Given the description of an element on the screen output the (x, y) to click on. 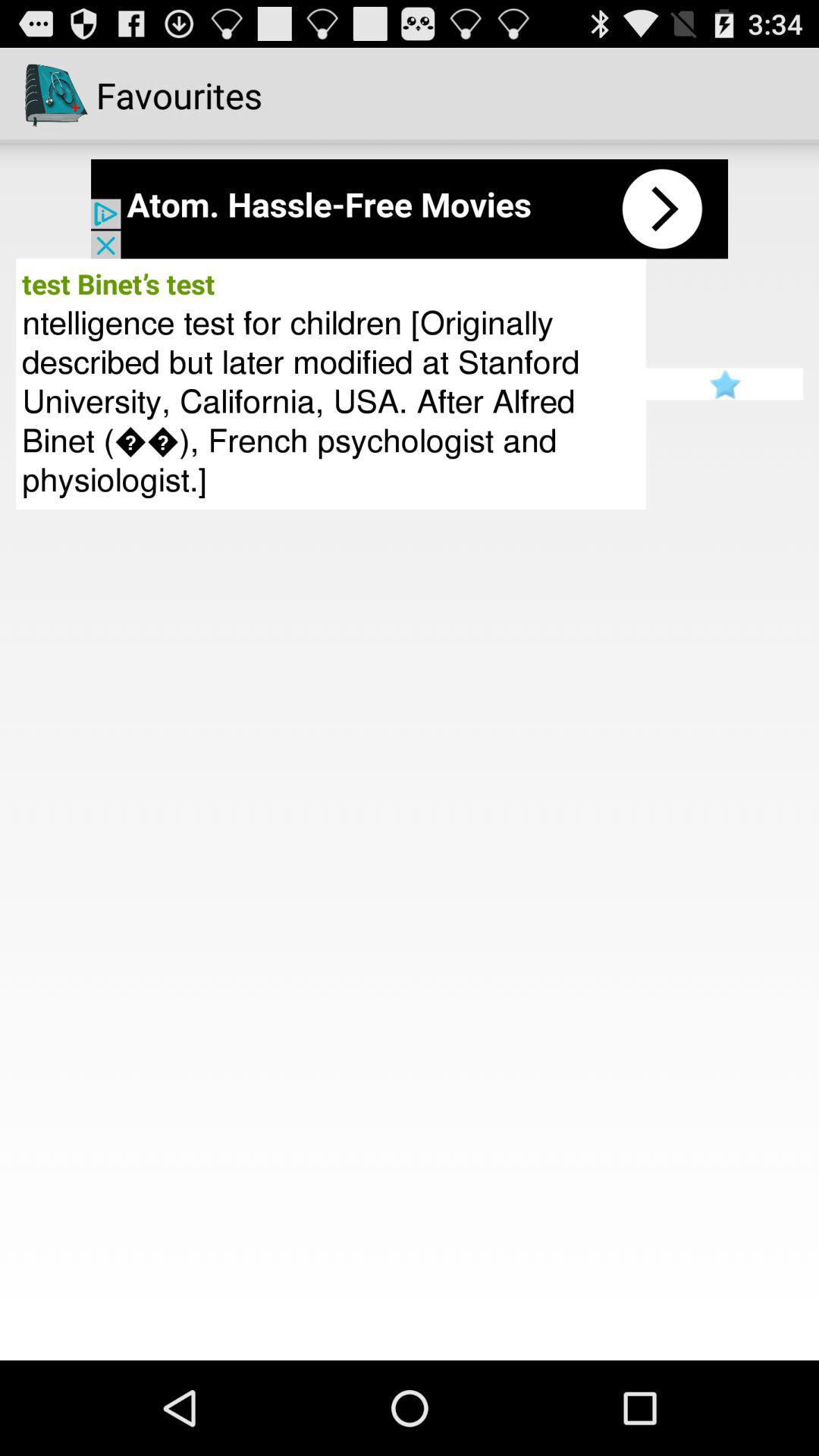
add to favorites (724, 383)
